Given the description of an element on the screen output the (x, y) to click on. 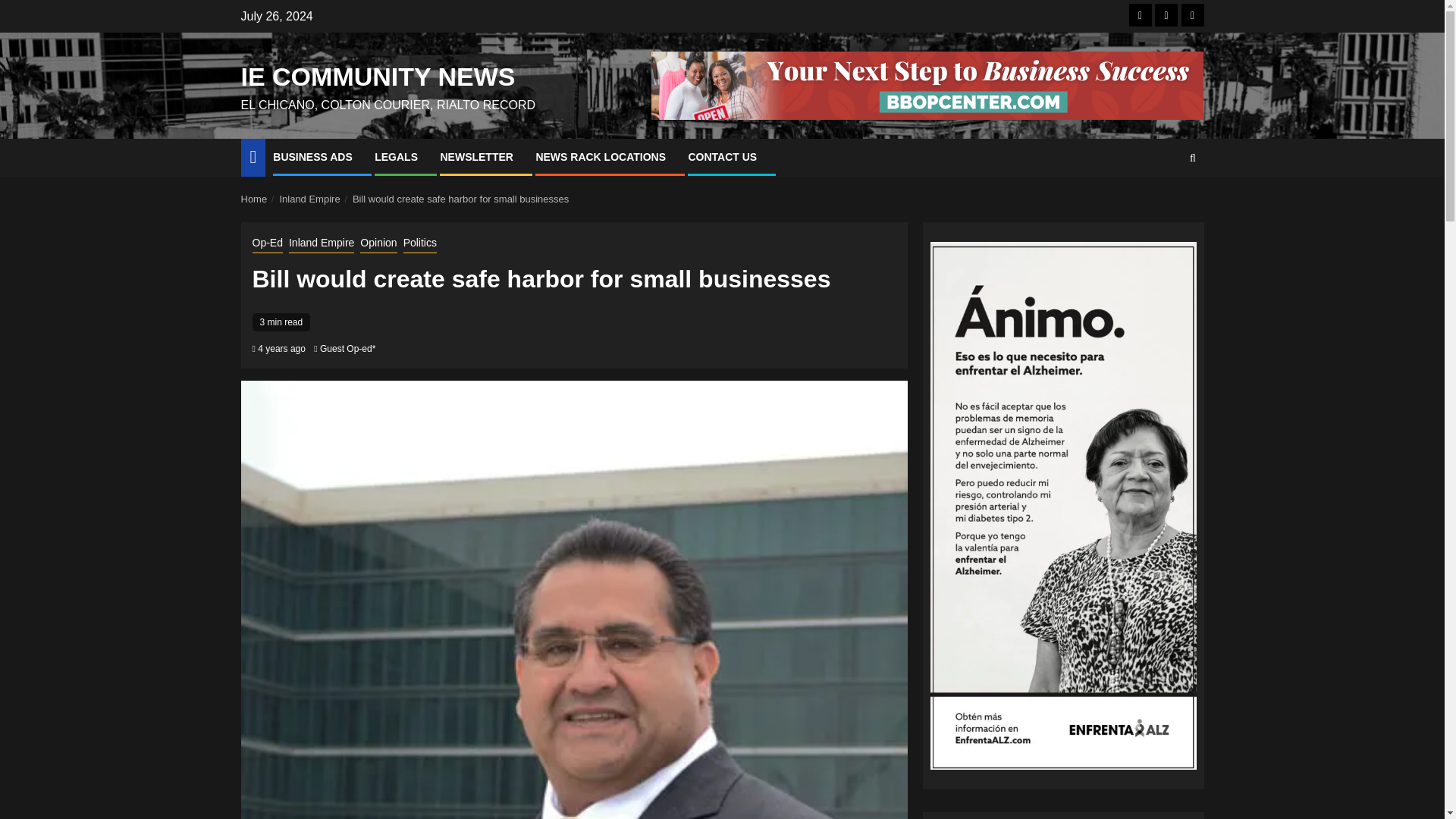
Bill would create safe harbor for small businesses (460, 198)
Facebook (1140, 15)
Inland Empire (320, 244)
NEWSLETTER (475, 156)
IE COMMUNITY NEWS (378, 76)
LEGALS (395, 156)
CONTACT US (722, 156)
Search (1163, 203)
Op-Ed (266, 244)
Inland Empire (309, 198)
Politics (419, 244)
BUSINESS ADS (312, 156)
NEWS RACK LOCATIONS (600, 156)
Instagram (1192, 15)
Twitter (1165, 15)
